Given the description of an element on the screen output the (x, y) to click on. 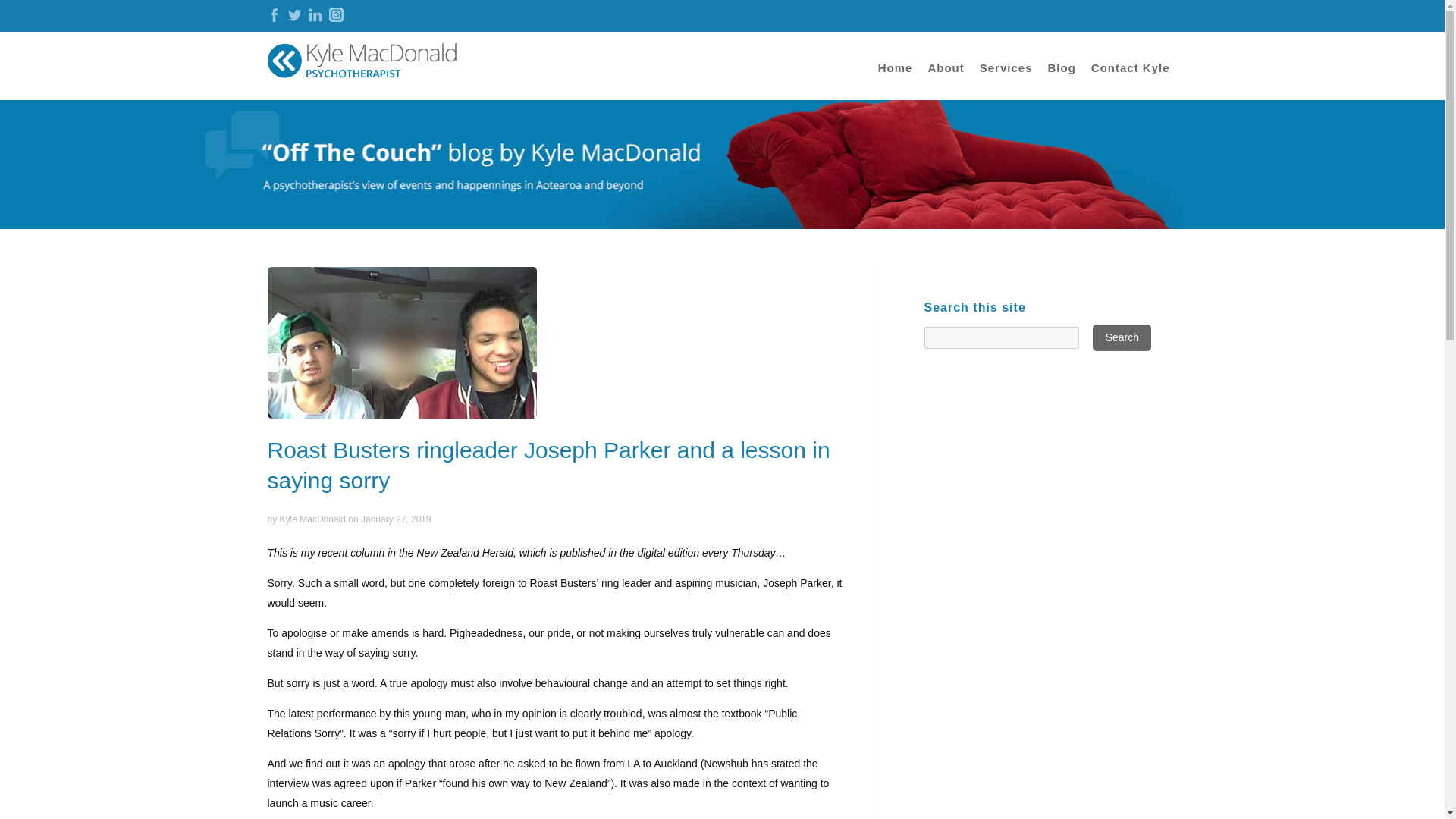
Blog (1061, 80)
Search (1122, 337)
Home (895, 80)
Search (1122, 337)
About (945, 80)
Services (1006, 80)
2019-01-27 (395, 519)
Contact Kyle (1130, 80)
